Given the description of an element on the screen output the (x, y) to click on. 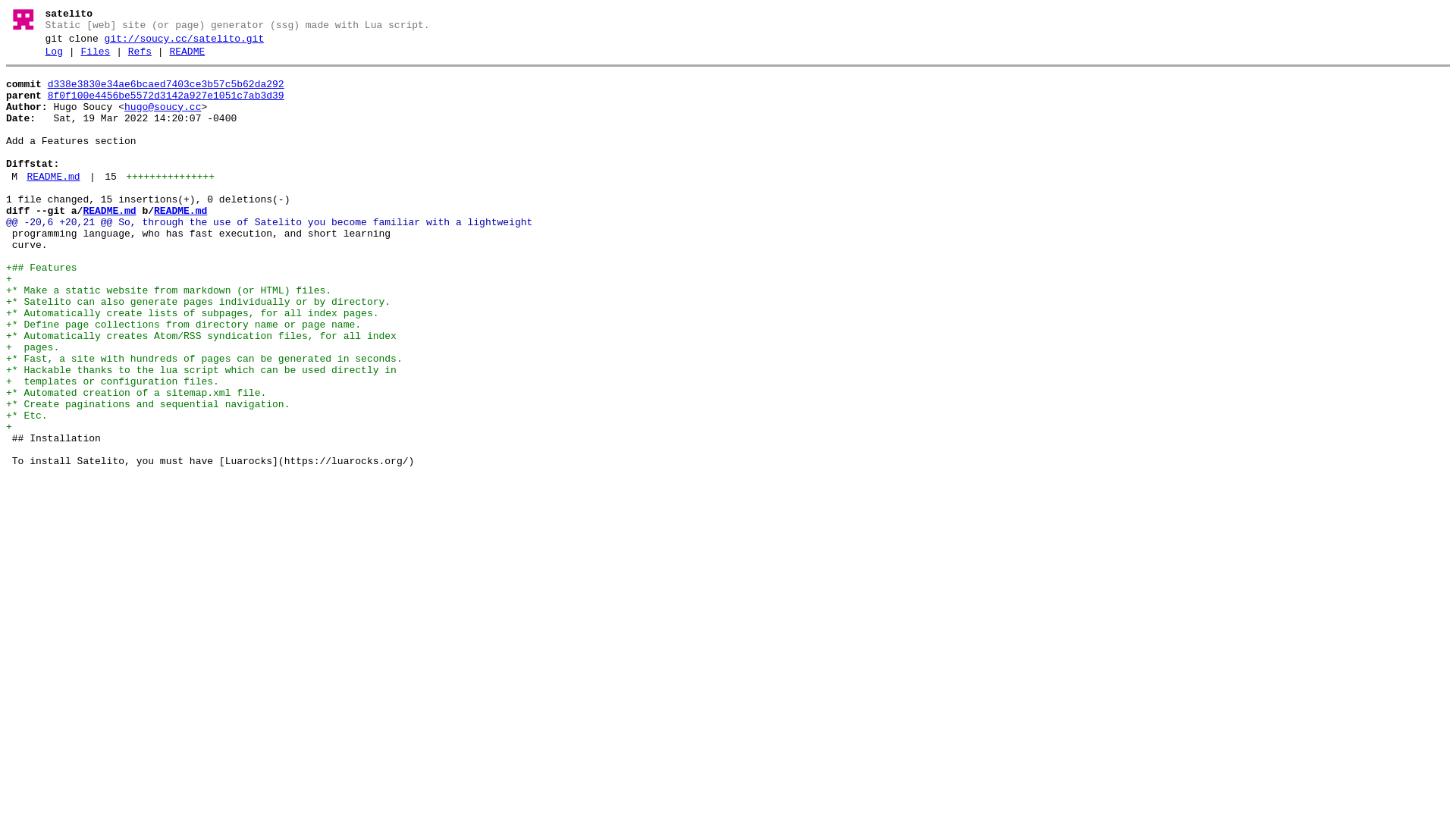
+* Automated creation of a sitemap.xml file. Element type: text (136, 392)
+* Etc. Element type: text (26, 414)
README.md Element type: text (52, 176)
+* Define page collections from directory name or page name. Element type: text (183, 323)
Log Element type: text (53, 51)
+  templates or configuration files. Element type: text (112, 381)
8f0f100e4456be5572d3142a927e1051c7ab3d39 Element type: text (165, 94)
+  pages. Element type: text (32, 346)
hugo@soucy.cc Element type: text (162, 106)
Refs Element type: text (139, 51)
git://soucy.cc/satelito.git Element type: text (184, 38)
README Element type: text (186, 51)
+* Create paginations and sequential navigation. Element type: text (147, 404)
+* Make a static website from markdown (or HTML) files. Element type: text (168, 290)
README.md Element type: text (108, 210)
+## Features Element type: text (41, 267)
README.md Element type: text (180, 210)
Files Element type: text (94, 51)
+ Element type: text (9, 278)
d338e3830e34ae6bcaed7403ce3b57c5b62da292 Element type: text (165, 84)
+ Element type: text (9, 427)
